Given the description of an element on the screen output the (x, y) to click on. 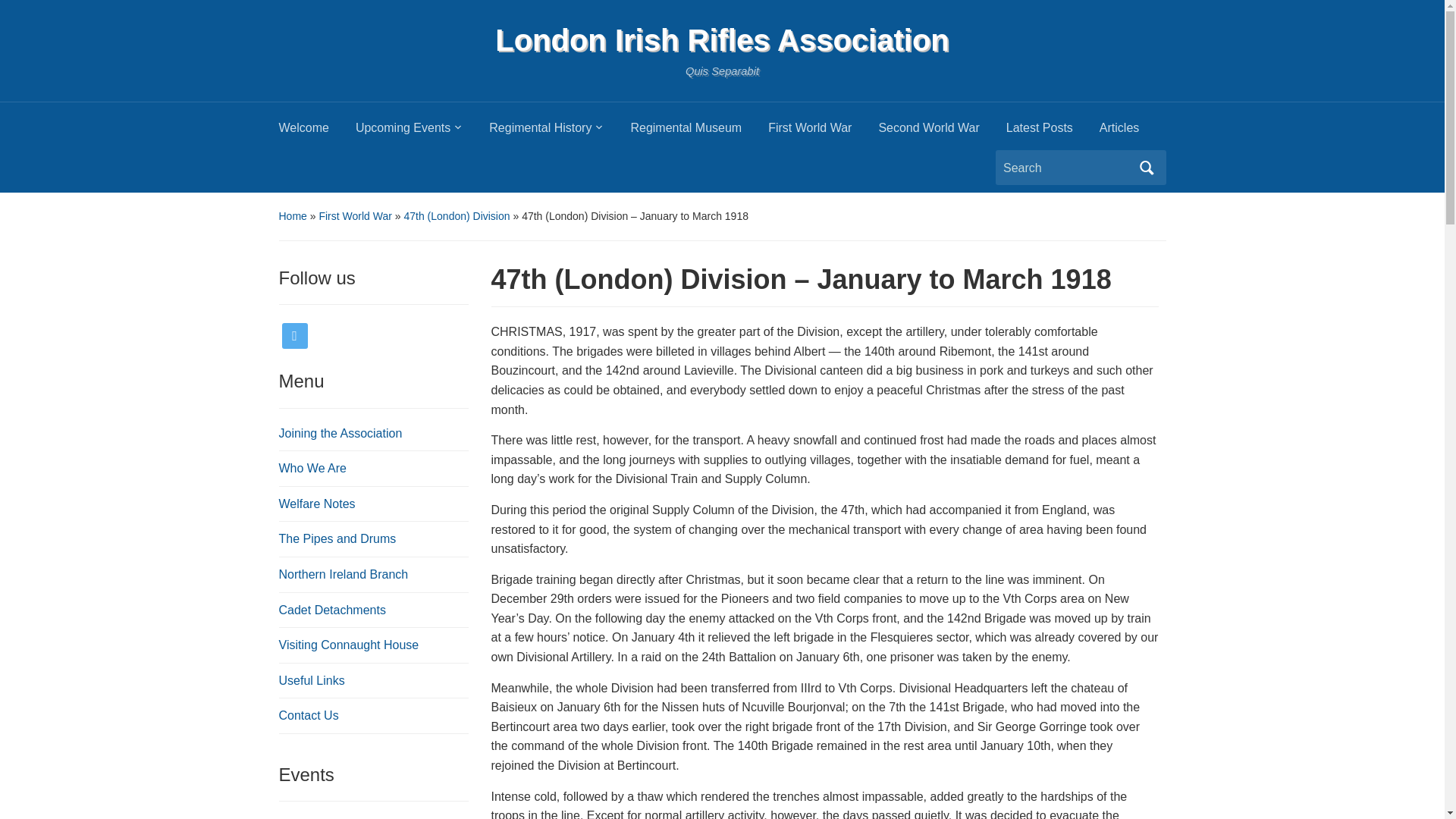
Welcome (317, 131)
Regimental Museum (699, 131)
Articles (1132, 131)
London Irish Rifles Association (722, 39)
twitter (294, 334)
Joining the Association (341, 432)
Twitter (294, 334)
The Pipes and Drums (337, 538)
First World War (354, 215)
Visiting Connaught House (349, 644)
Latest Posts (1052, 131)
London Irish Rifles Association - Quis Separabit (722, 39)
Northern Ireland Branch (344, 574)
Regimental History (559, 131)
First World War (822, 131)
